Given the description of an element on the screen output the (x, y) to click on. 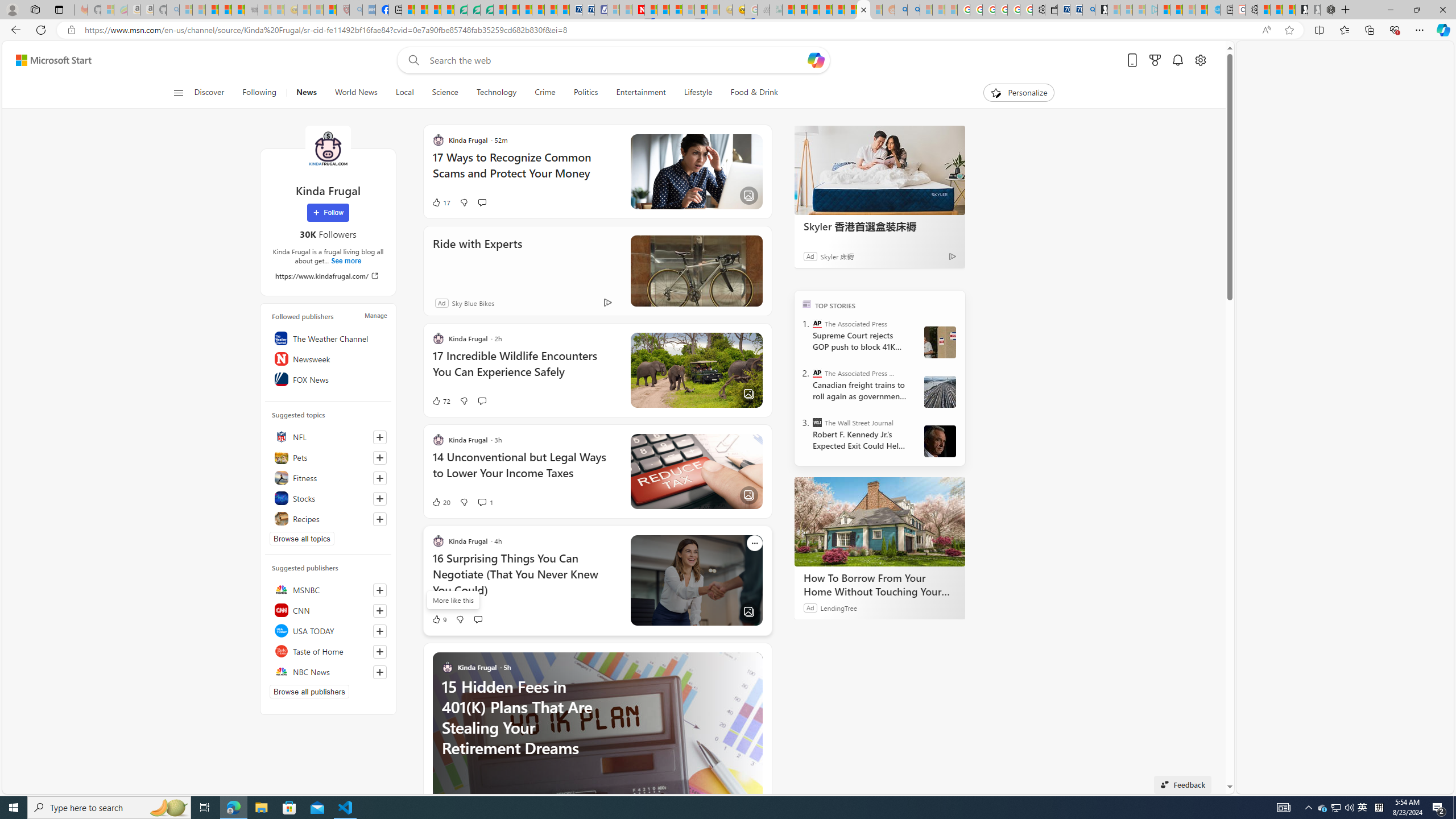
Newsweek (327, 358)
Wallet (1050, 9)
Terms of Use Agreement (473, 9)
Politics (585, 92)
NFL (327, 436)
NCL Adult Asthma Inhaler Choice Guideline - Sleeping (369, 9)
Latest Politics News & Archive | Newsweek.com (638, 9)
Entertainment (641, 92)
World News (355, 92)
